Given the description of an element on the screen output the (x, y) to click on. 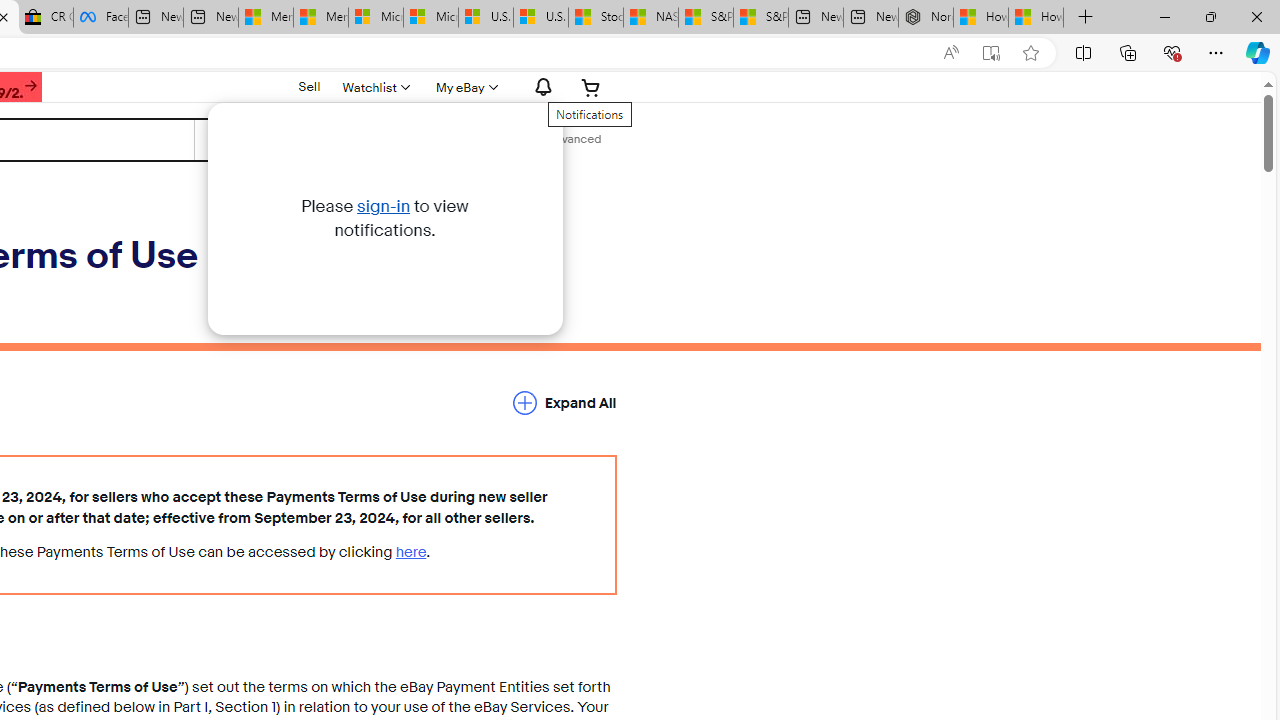
Facebook (100, 17)
Notifications (538, 87)
My eBayExpand My eBay (464, 87)
How to Use a Monitor With Your Closed Laptop (1035, 17)
here (411, 552)
My eBay (464, 87)
Advanced Search (573, 139)
Watchlist (374, 87)
